Given the description of an element on the screen output the (x, y) to click on. 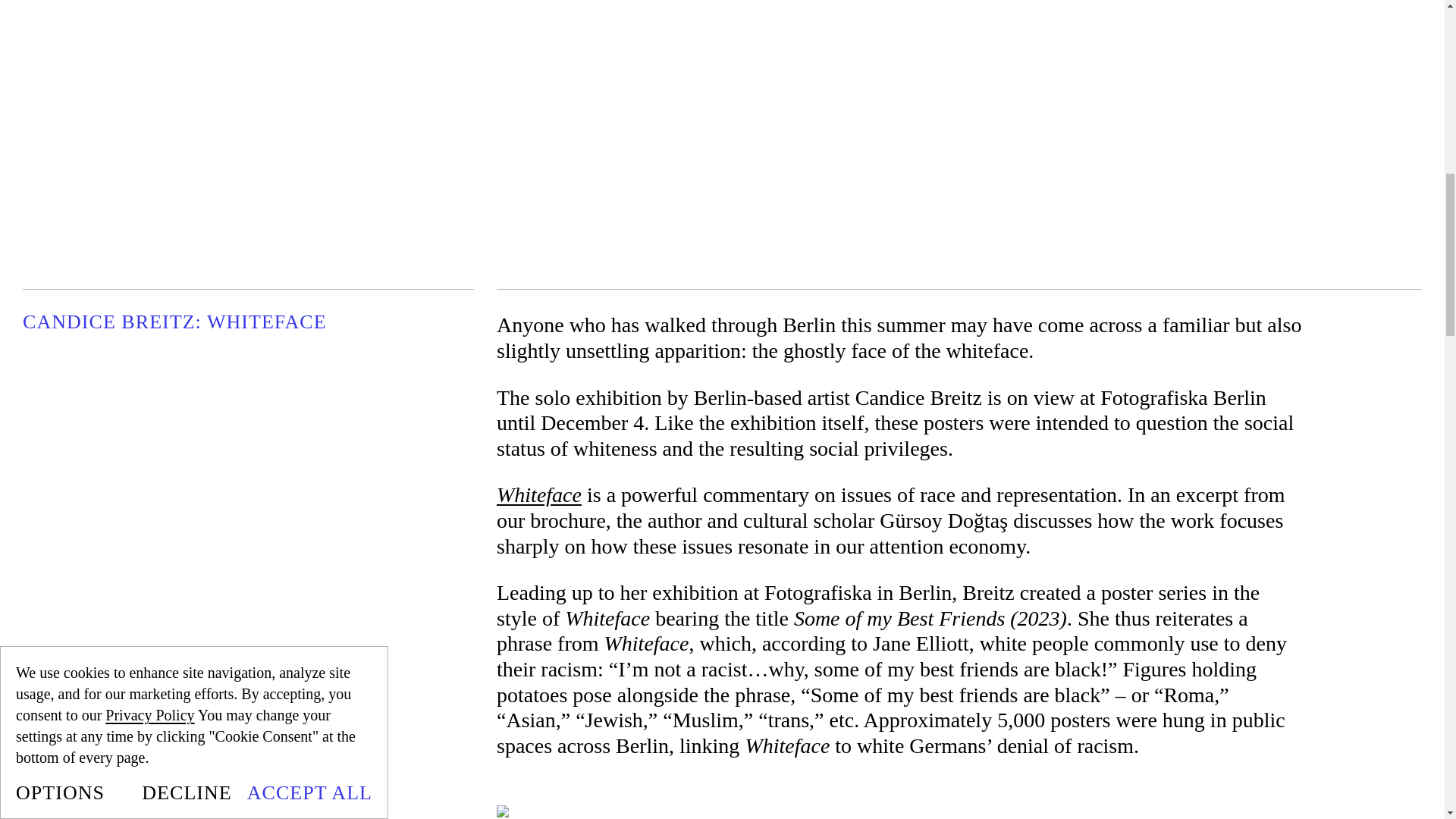
CANDICE BREITZ: WHITEFACE (248, 322)
Whiteface (538, 494)
